Given the description of an element on the screen output the (x, y) to click on. 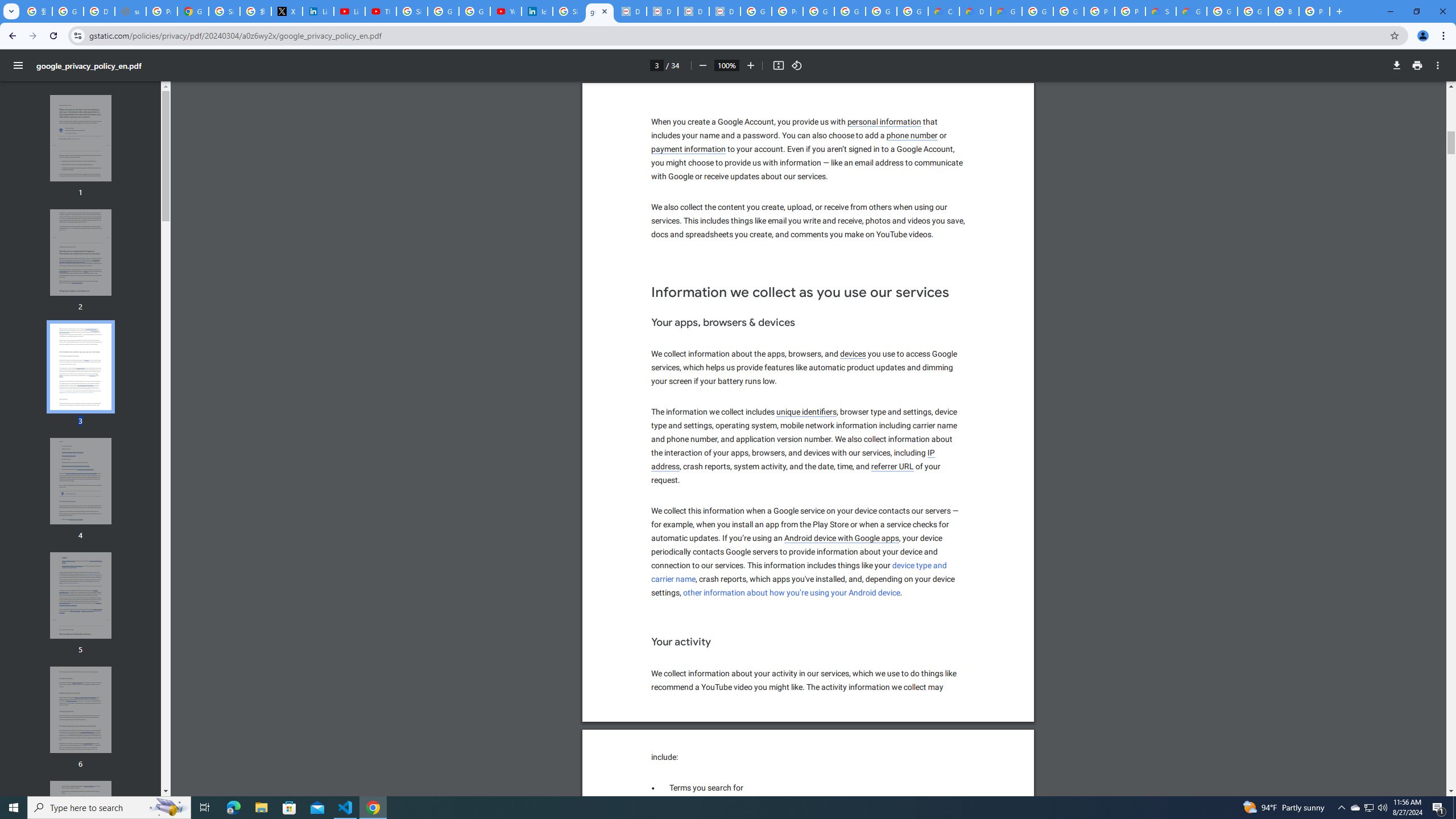
phone number (912, 135)
google_privacy_policy_en.pdf (599, 11)
IP (931, 452)
Google Workspace - Specific Terms (881, 11)
Zoom level (726, 64)
device type and (919, 565)
Google Cloud Platform (1068, 11)
devices (853, 353)
